Given the description of an element on the screen output the (x, y) to click on. 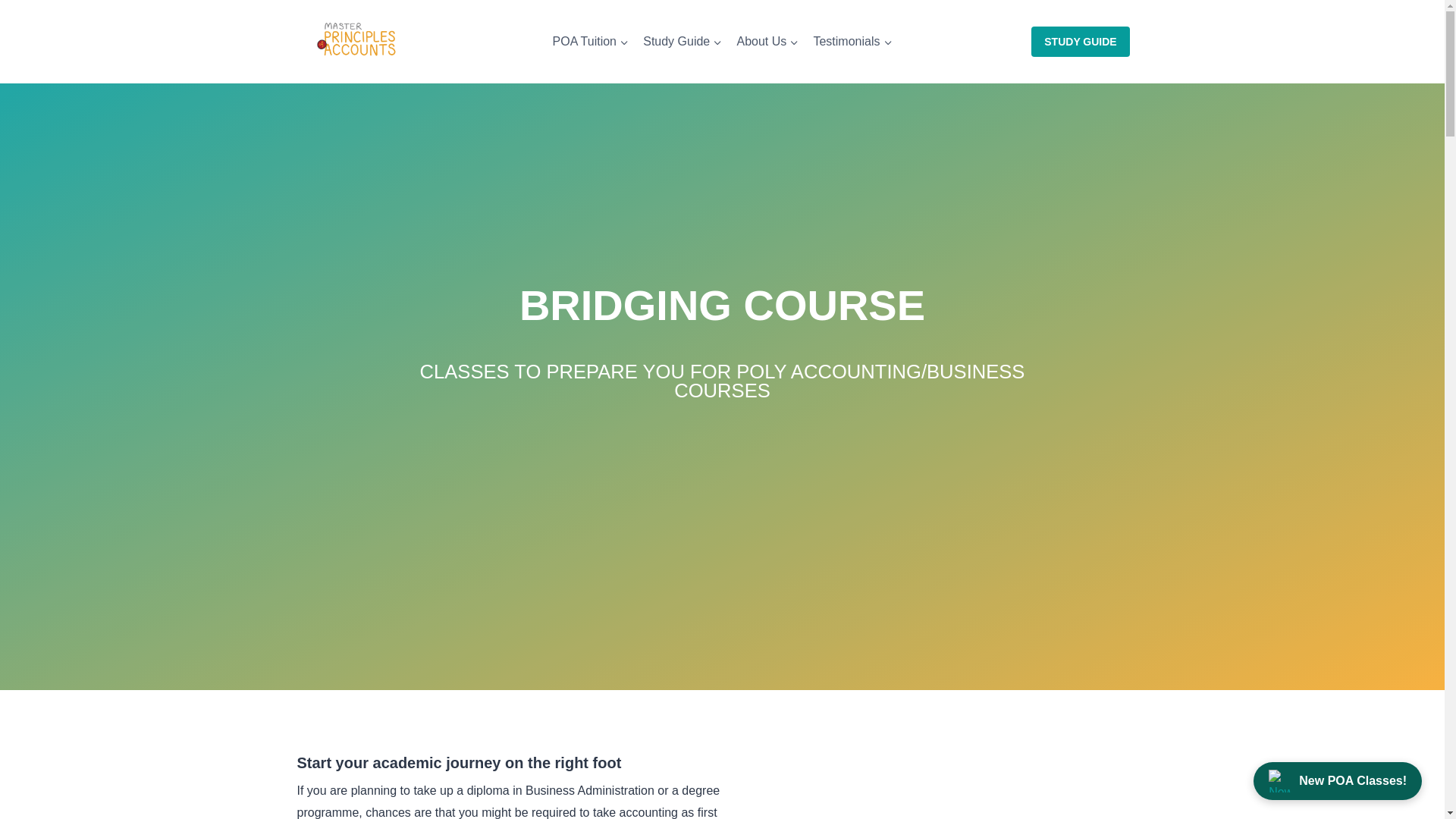
STUDY GUIDE (1079, 41)
About Us (767, 41)
POA Tuition (590, 41)
Study Guide (682, 41)
Testimonials (852, 41)
